Given the description of an element on the screen output the (x, y) to click on. 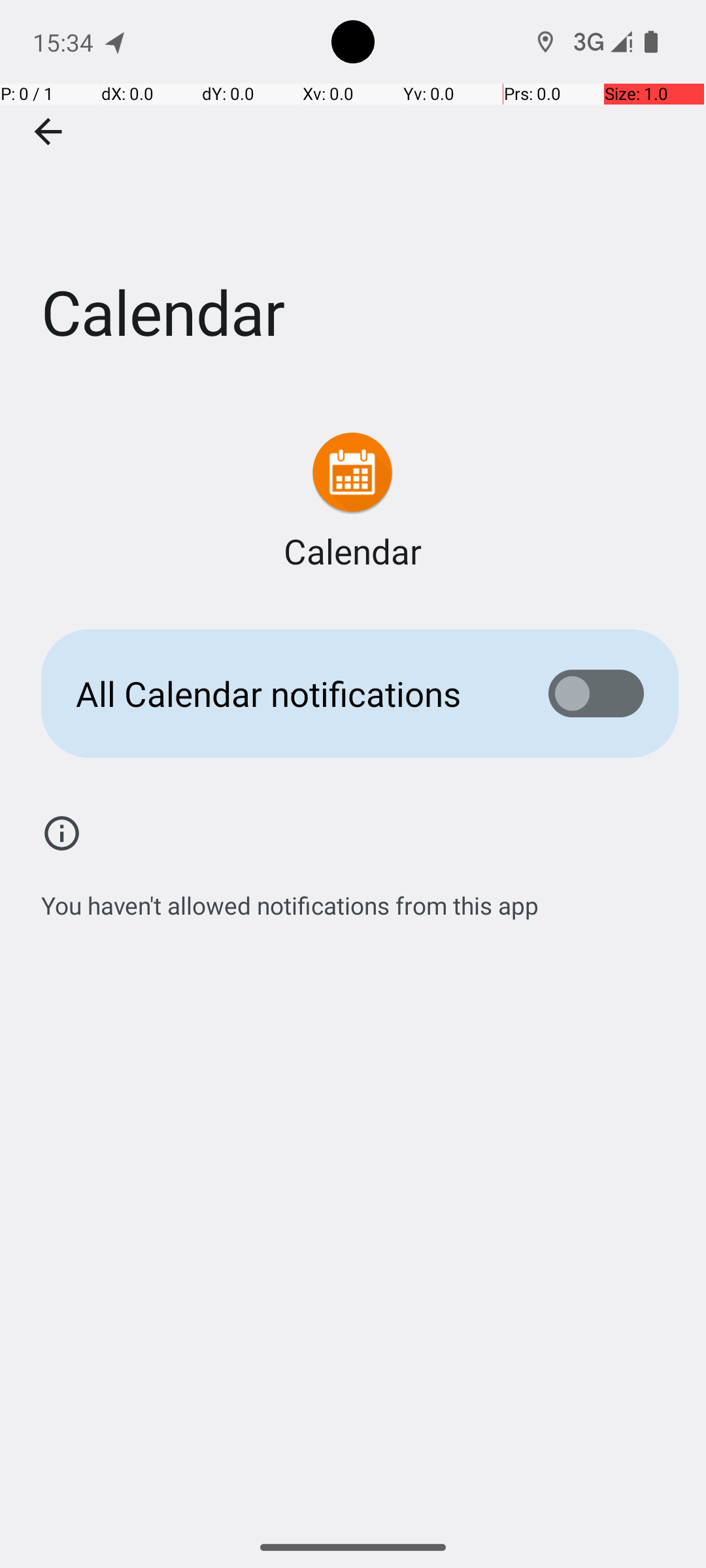
All Calendar notifications Element type: android.widget.TextView (291, 693)
You haven't allowed notifications from this app Element type: android.widget.TextView (290, 898)
